Given the description of an element on the screen output the (x, y) to click on. 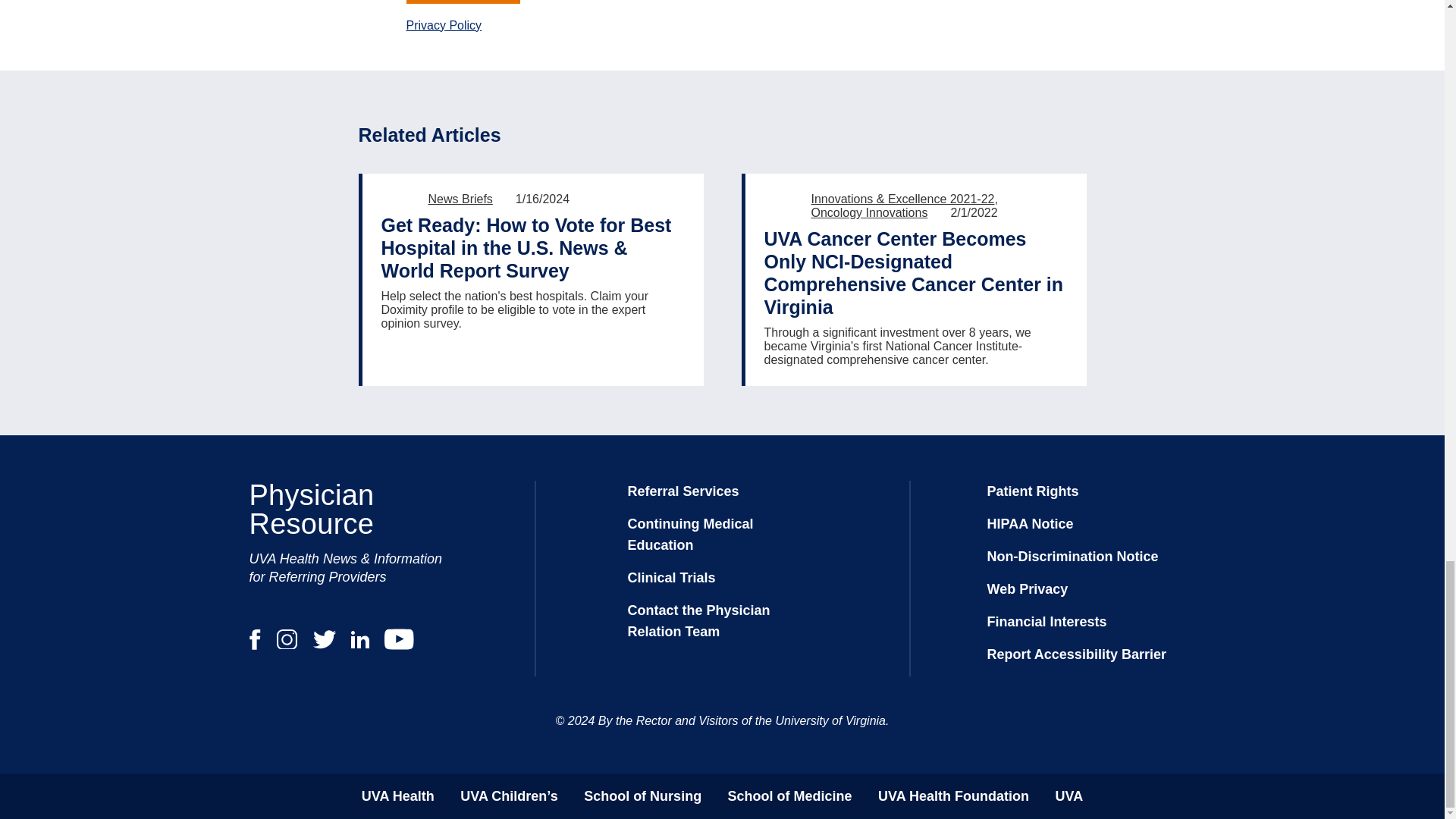
Clinical Trials (671, 577)
Report Accessibility Barrier (1076, 654)
Referral Services (683, 491)
Non-Discrimination Notice (1072, 556)
HIPAA Notice (1030, 523)
News Briefs (460, 198)
Submit (462, 1)
Web Privacy (1027, 589)
Oncology Innovations (869, 212)
Submit (462, 1)
Patient Rights (1032, 491)
Financial Interests (1046, 621)
Privacy Policy (443, 24)
UVA Health (397, 795)
